Given the description of an element on the screen output the (x, y) to click on. 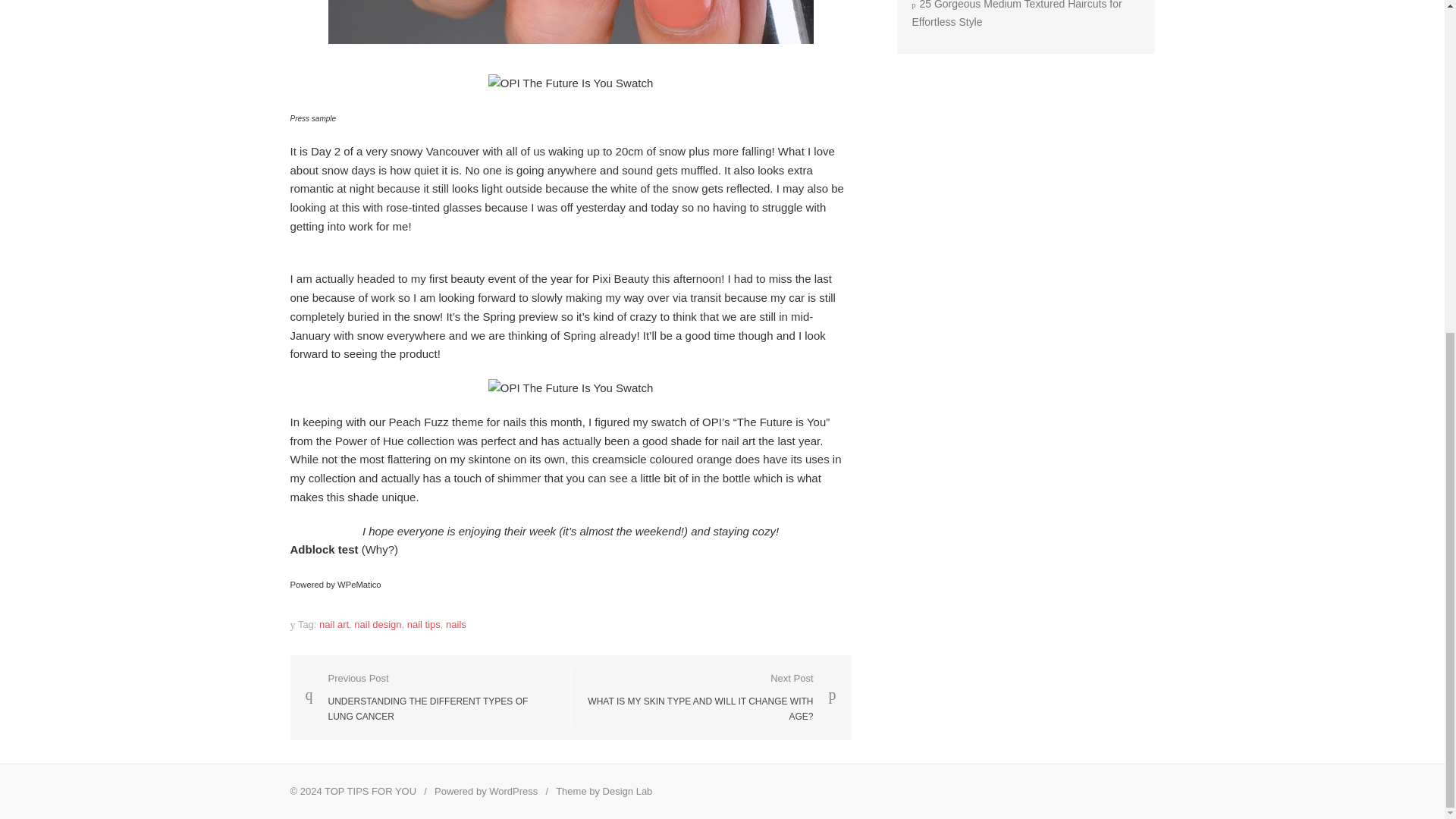
OPI The Future Is You Swatch (570, 83)
OPI The Future Is You Swatch (570, 388)
